Given the description of an element on the screen output the (x, y) to click on. 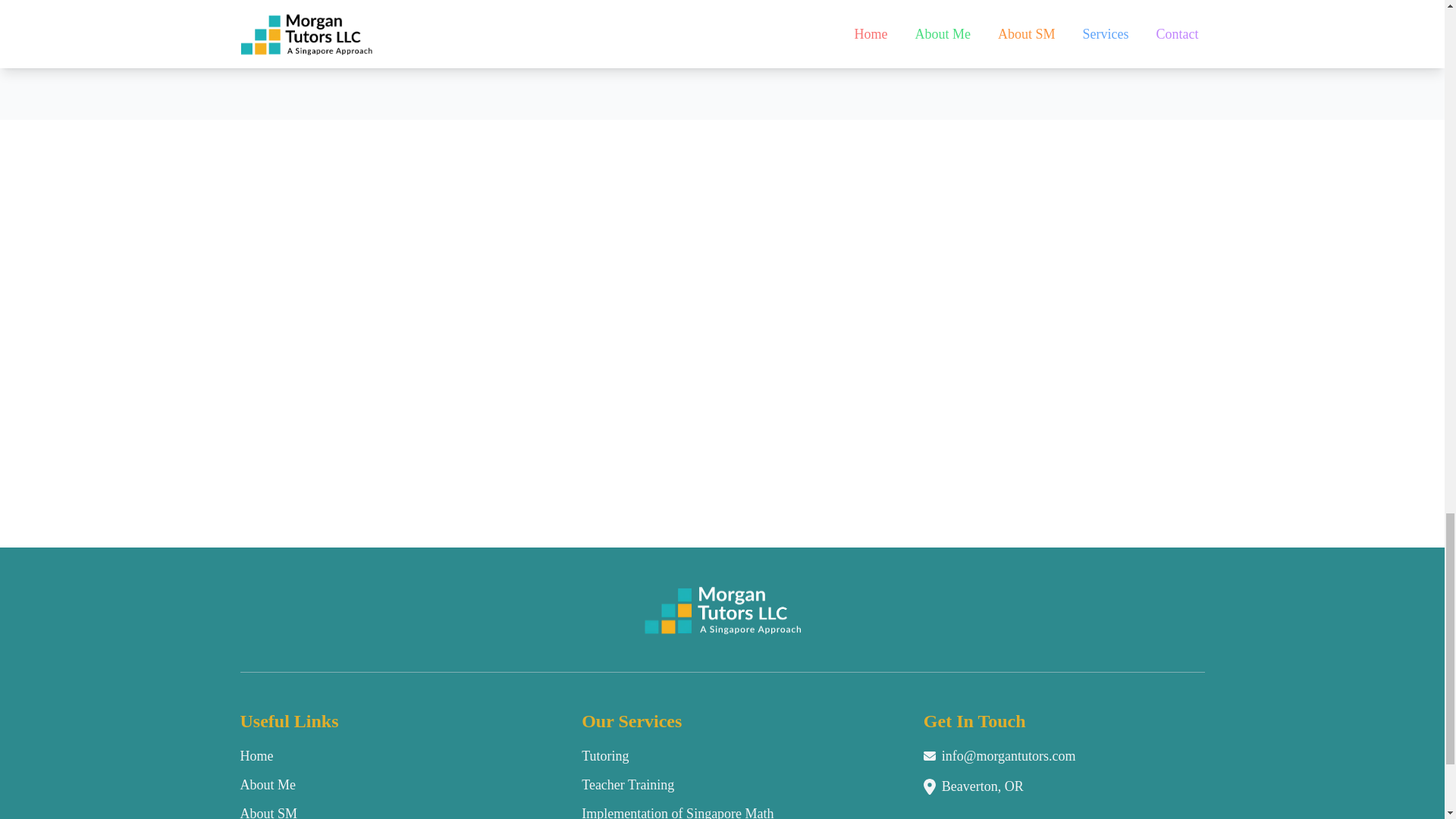
Tutoring (604, 755)
Teacher Training (627, 784)
Implementation of Singapore Math (676, 812)
About Me (267, 784)
About SM (268, 812)
Home (256, 755)
